Given the description of an element on the screen output the (x, y) to click on. 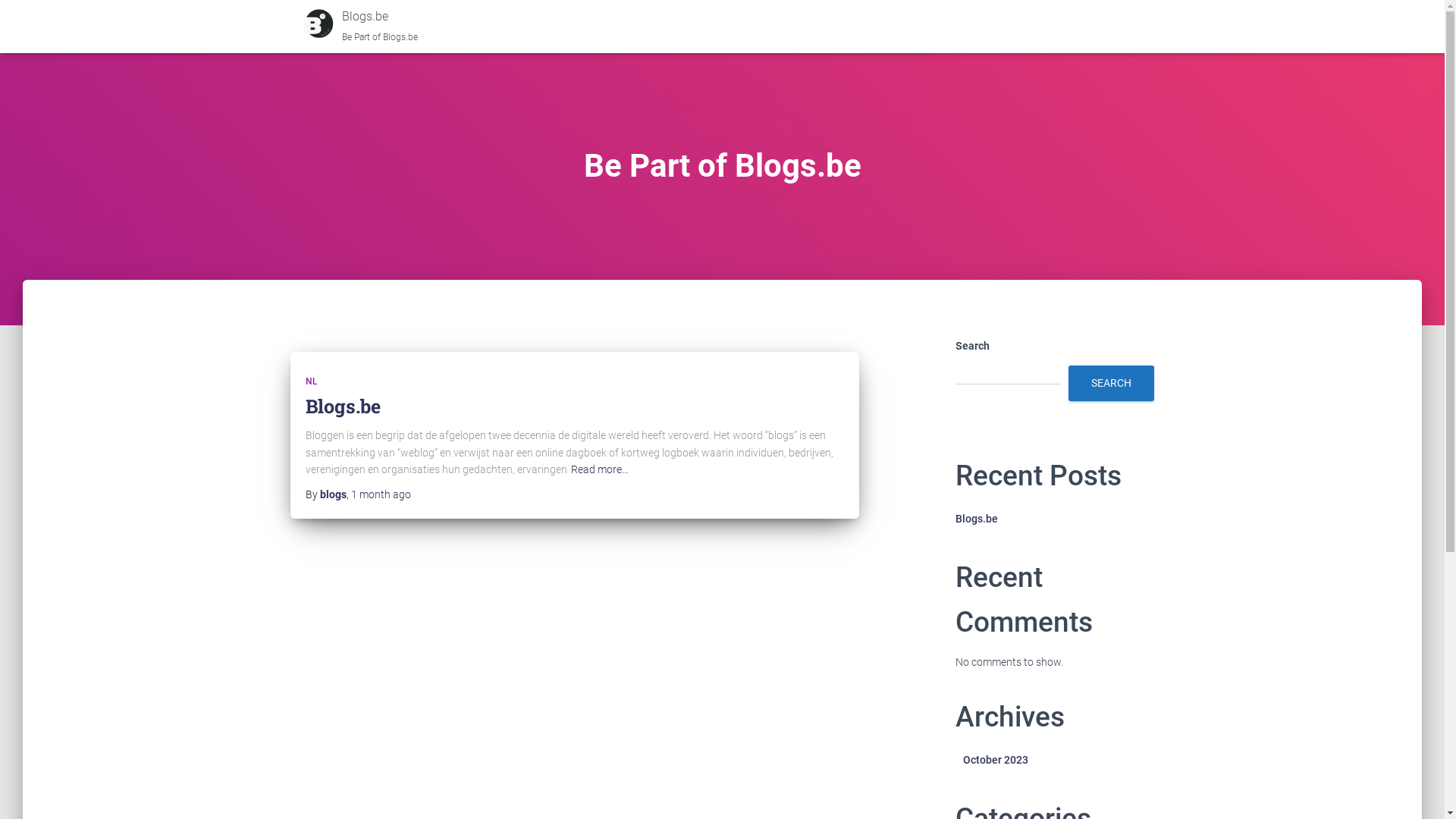
Blogs.be
Be Part of Blogs.be Element type: text (354, 26)
NL Element type: text (310, 381)
Blogs.be Element type: text (976, 518)
Blogs.be Element type: text (341, 405)
October 2023 Element type: text (995, 759)
SEARCH Element type: text (1110, 383)
1 month ago Element type: text (380, 494)
blogs Element type: text (333, 494)
